Given the description of an element on the screen output the (x, y) to click on. 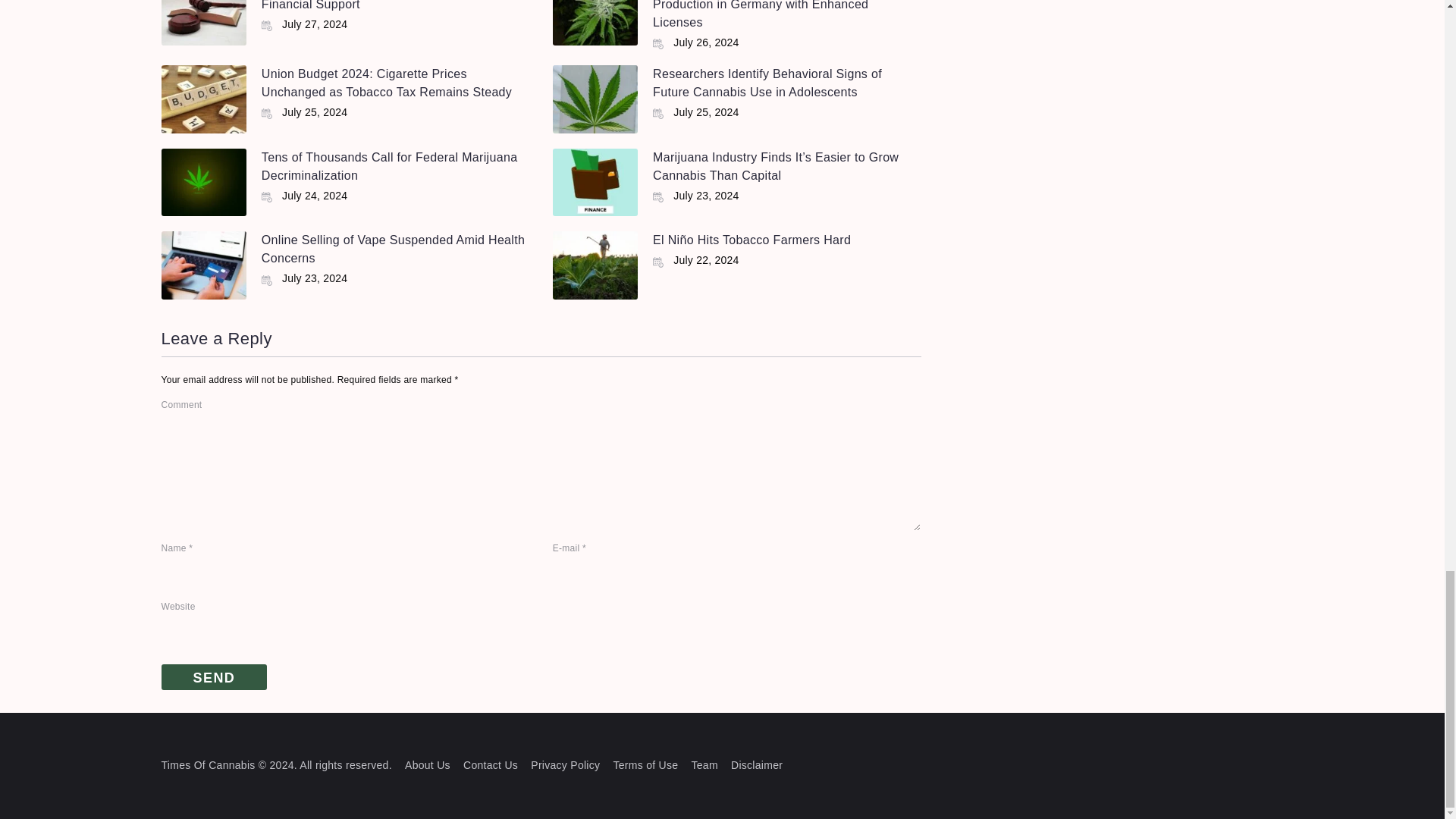
Send (213, 677)
Accrington Dealer Sold Cannabis to Provide Financial Support (385, 5)
Online Selling of Vape Suspended Amid Health Concerns (393, 248)
Send (213, 677)
